Given the description of an element on the screen output the (x, y) to click on. 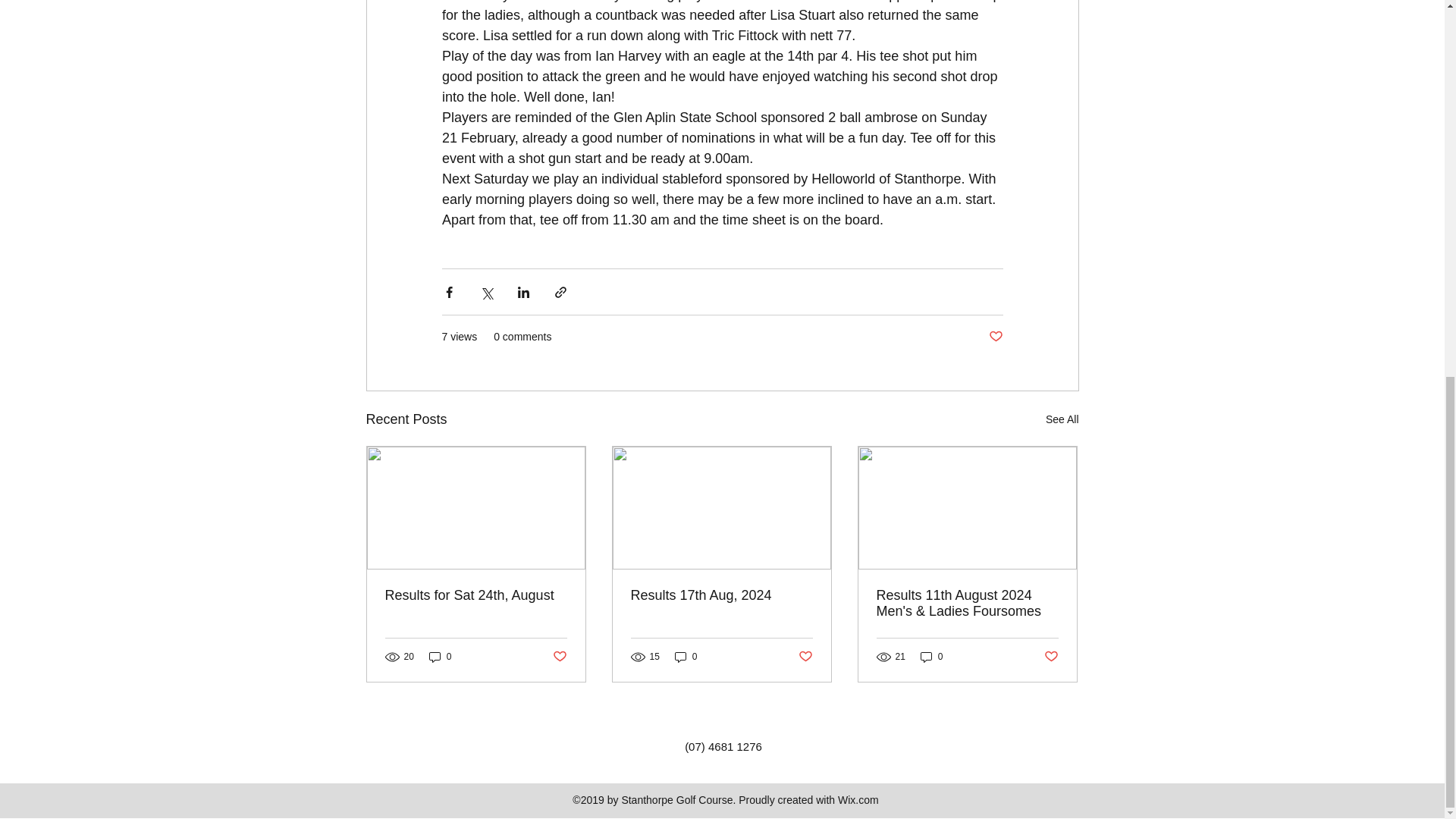
Results for Sat 24th, August (476, 595)
Results 17th Aug, 2024 (721, 595)
0 (685, 657)
See All (1061, 419)
0 (440, 657)
Post not marked as liked (804, 656)
Post not marked as liked (995, 336)
0 (931, 657)
Post not marked as liked (1050, 656)
Post not marked as liked (558, 656)
